Given the description of an element on the screen output the (x, y) to click on. 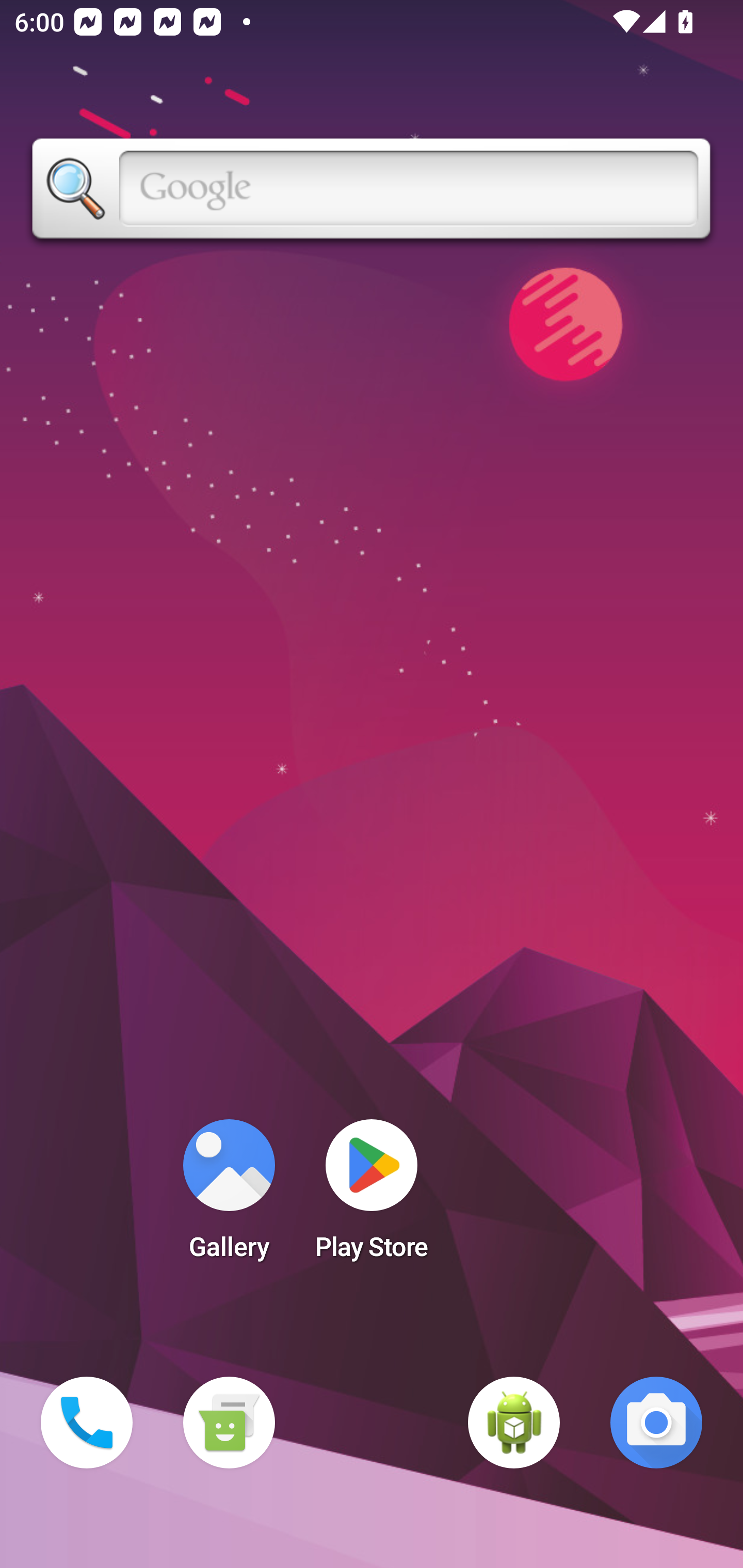
Gallery (228, 1195)
Play Store (371, 1195)
Phone (86, 1422)
Messaging (228, 1422)
WebView Browser Tester (513, 1422)
Camera (656, 1422)
